Given the description of an element on the screen output the (x, y) to click on. 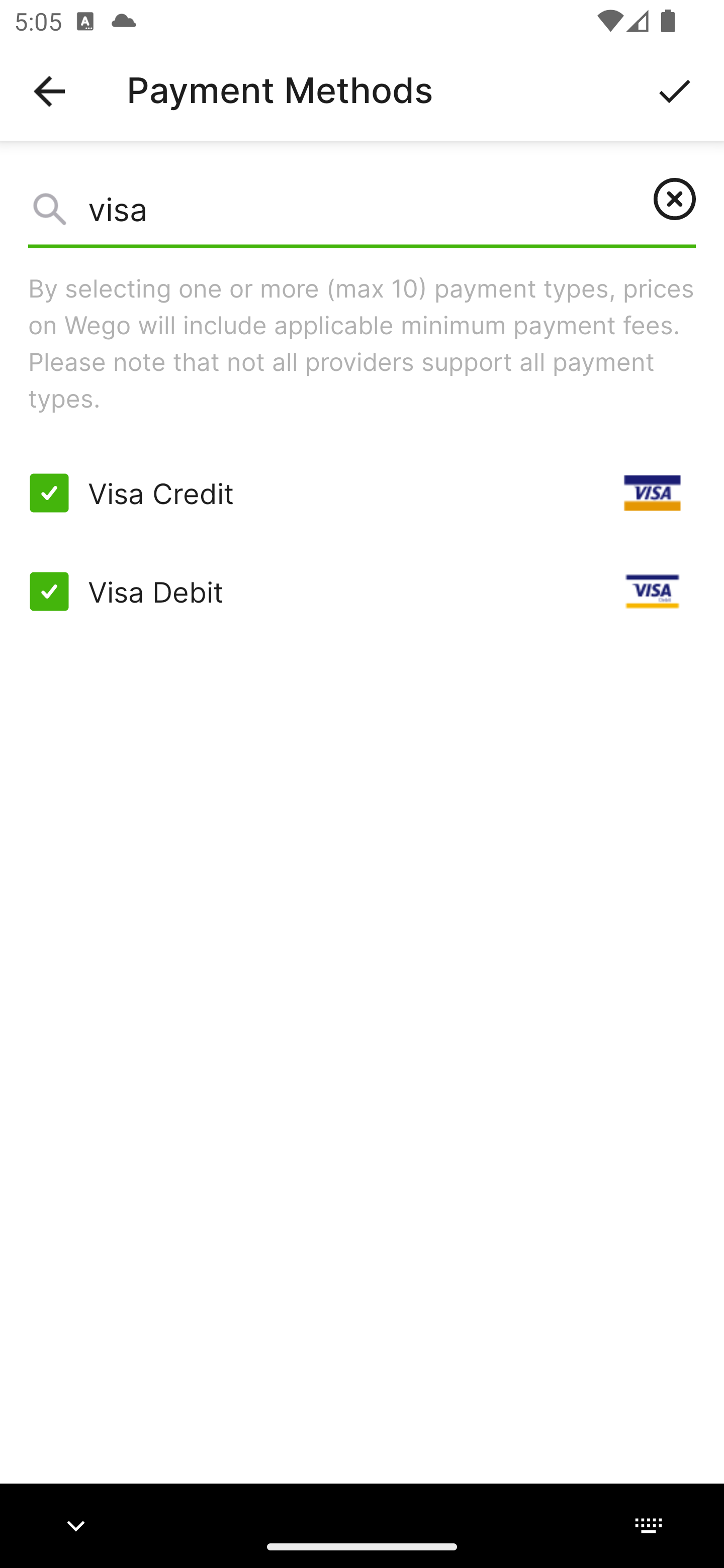
visa (361, 214)
Visa Credit (362, 492)
Visa Debit (362, 591)
